Given the description of an element on the screen output the (x, y) to click on. 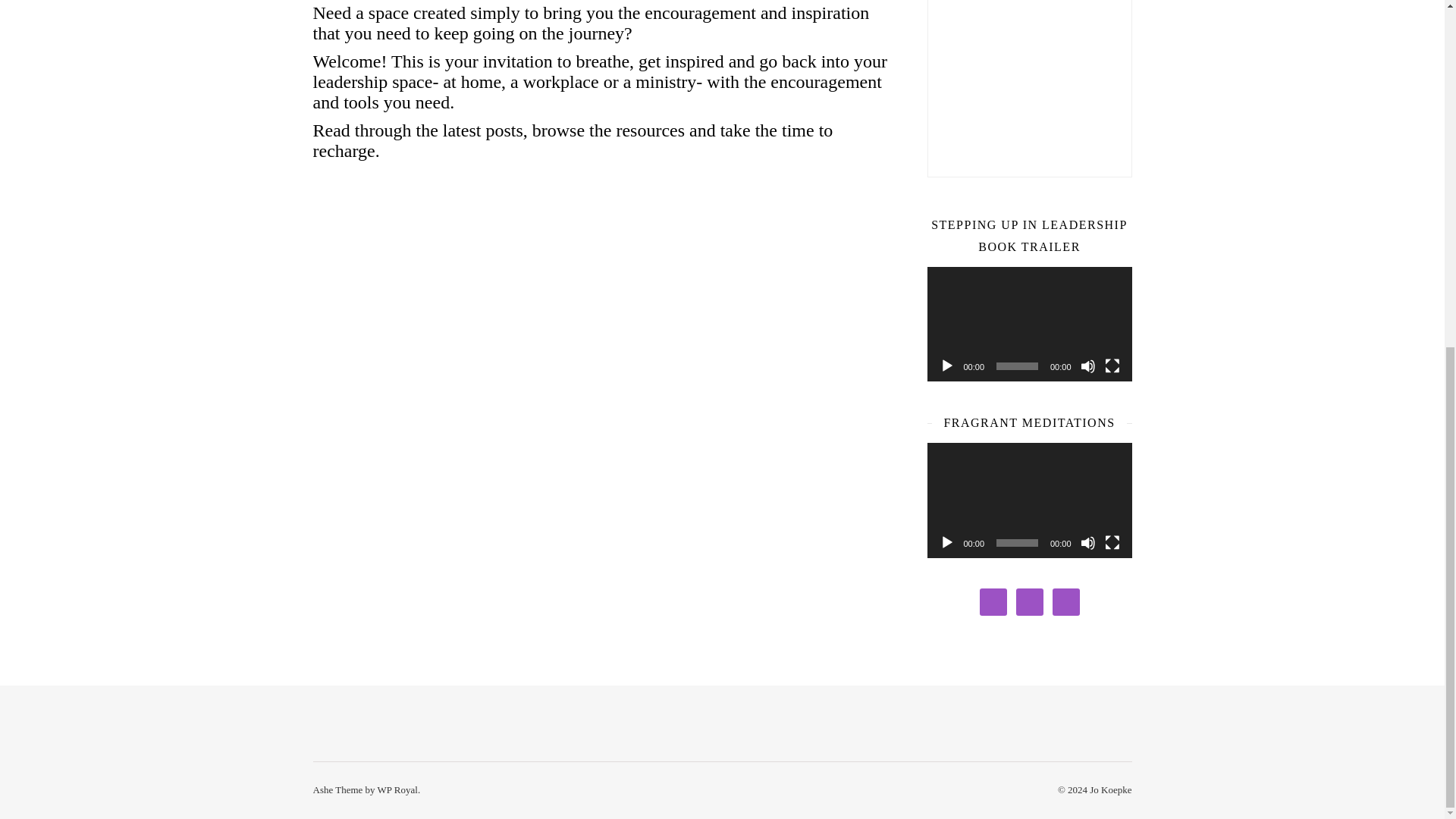
Play (946, 542)
Mute (1087, 365)
WP Royal (397, 789)
Fullscreen (1111, 365)
Fullscreen (1111, 542)
Play (946, 365)
Mute (1087, 542)
